Given the description of an element on the screen output the (x, y) to click on. 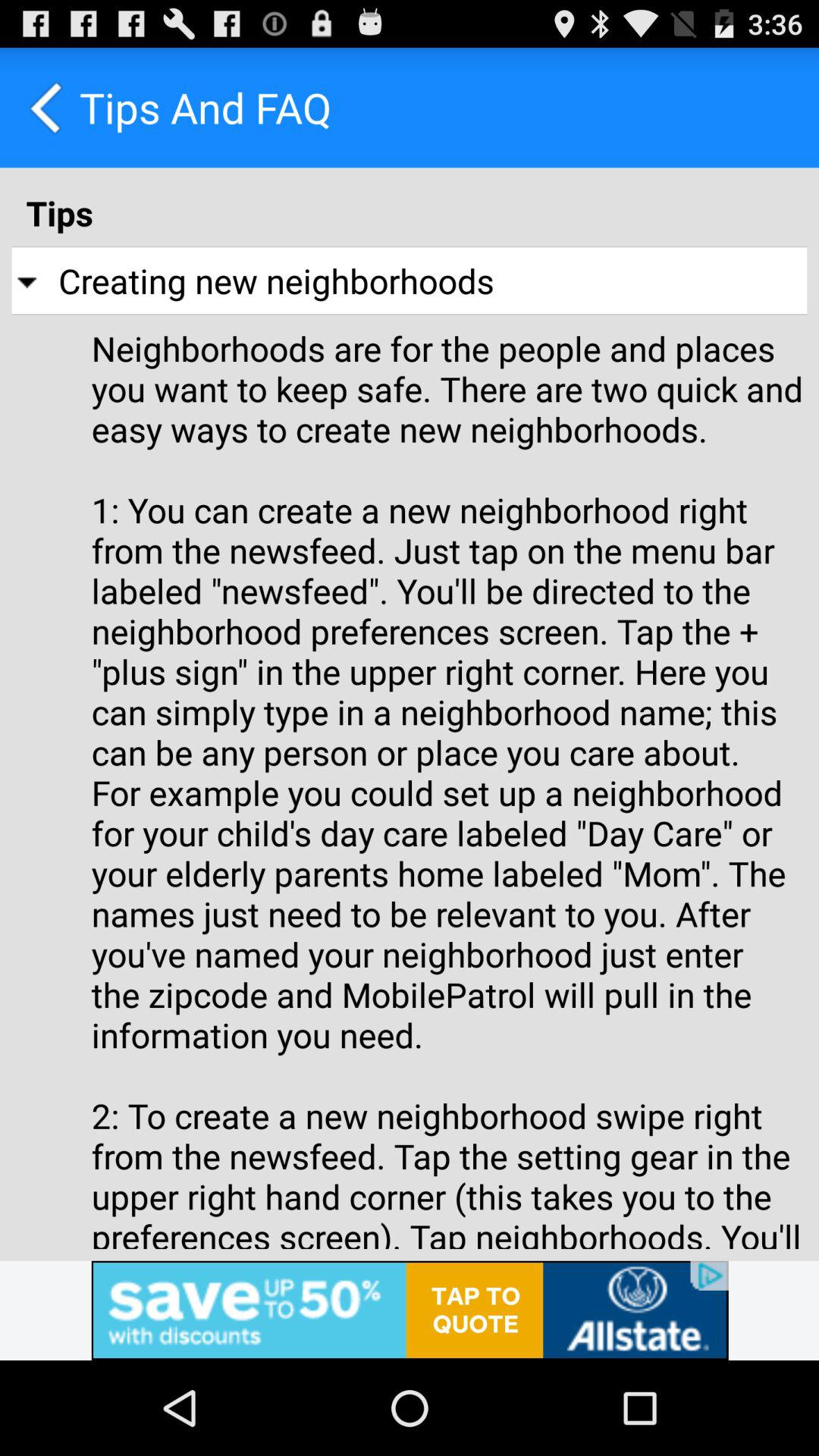
inadvertent (409, 1310)
